Given the description of an element on the screen output the (x, y) to click on. 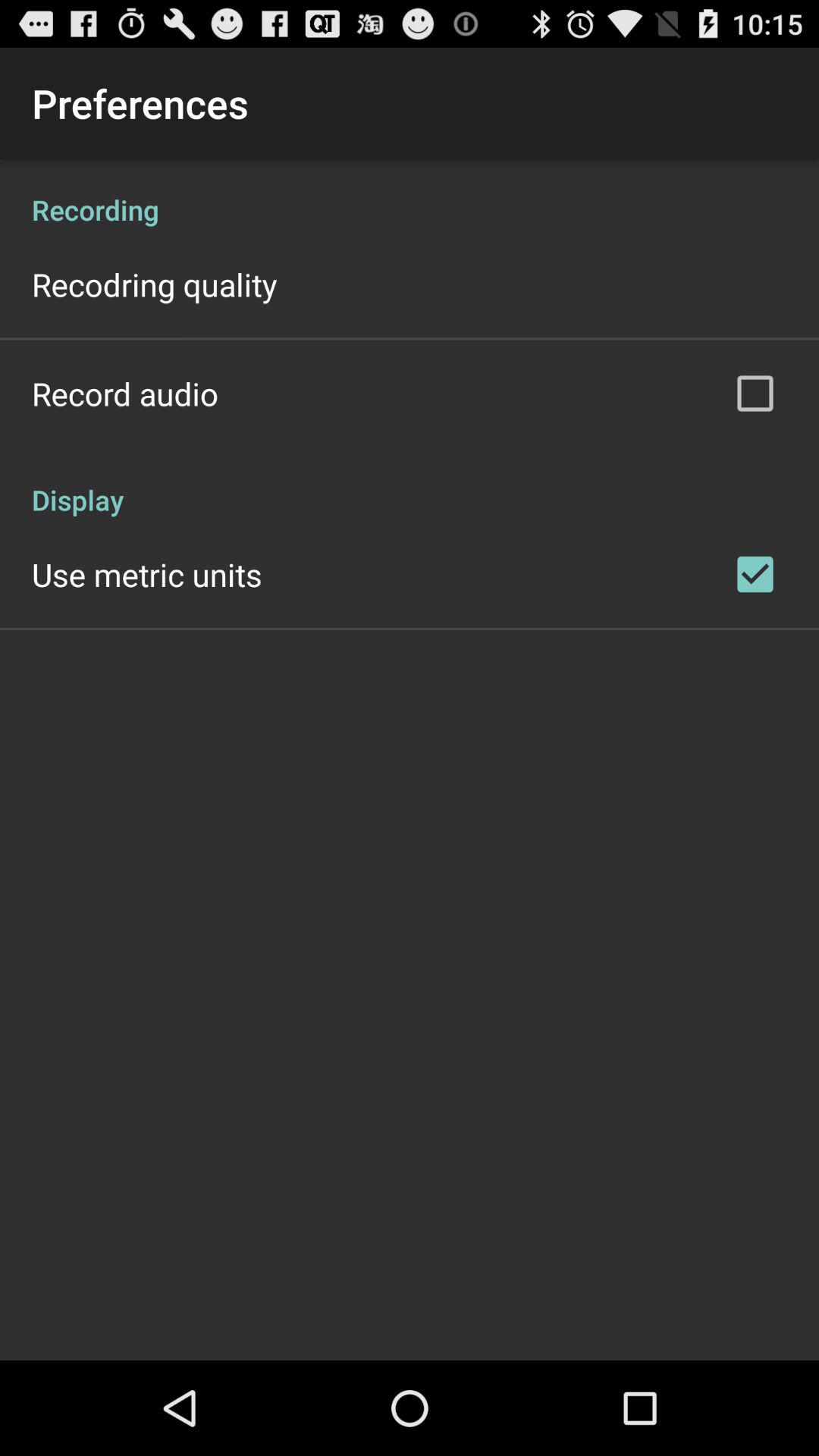
turn off icon above the display app (124, 393)
